Given the description of an element on the screen output the (x, y) to click on. 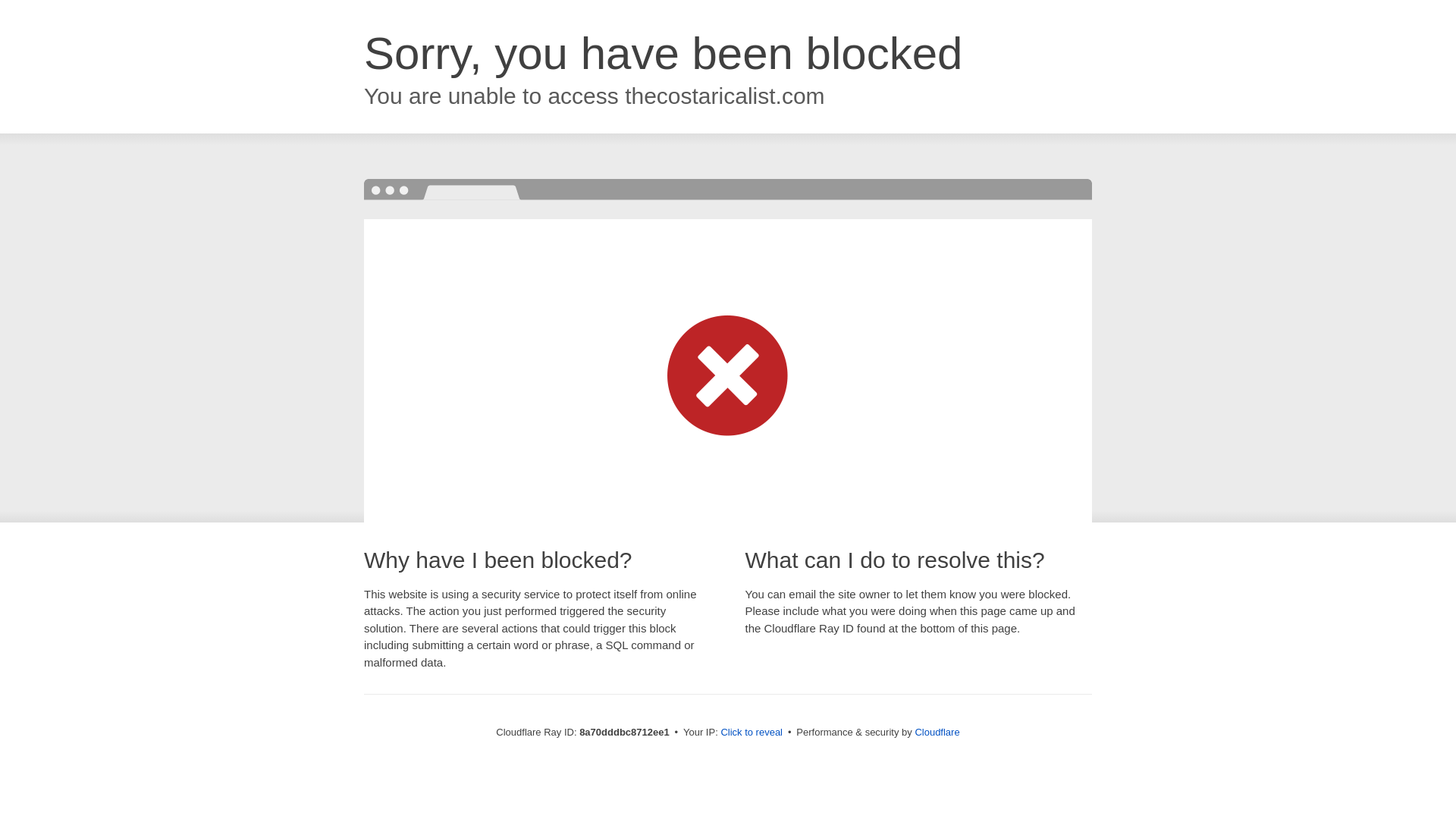
Click to reveal (751, 732)
Cloudflare (936, 731)
